Given the description of an element on the screen output the (x, y) to click on. 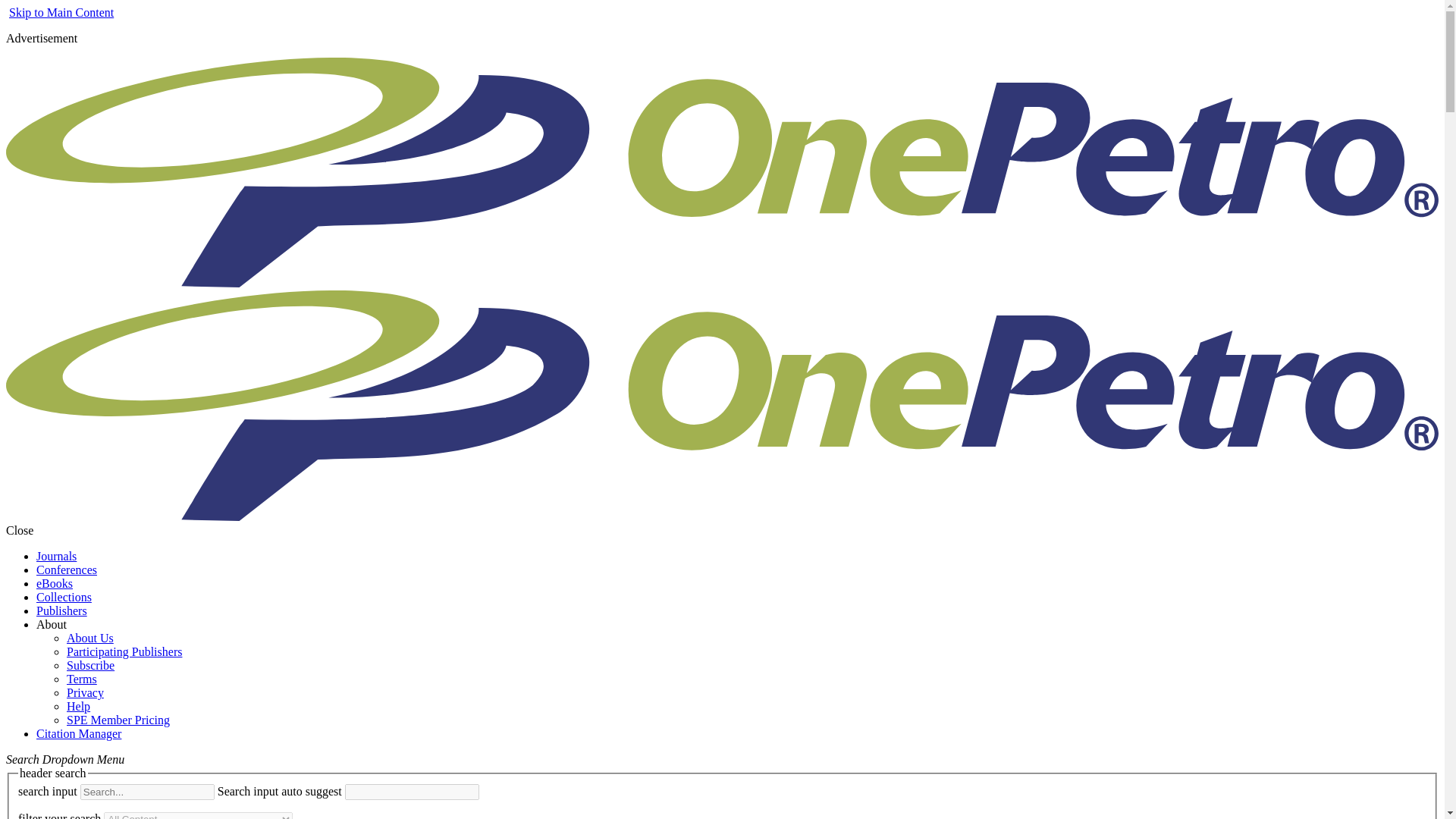
Conferences (66, 569)
Participating Publishers (124, 651)
Skip to Main Content (60, 11)
SPE Member Pricing (118, 719)
Help (78, 706)
Close (19, 530)
Search Dropdown Menu (64, 758)
Publishers (61, 610)
Citation Manager (78, 733)
Privacy (84, 692)
Journals (56, 555)
Terms (81, 678)
search input (147, 791)
Subscribe (90, 665)
Collections (63, 596)
